Given the description of an element on the screen output the (x, y) to click on. 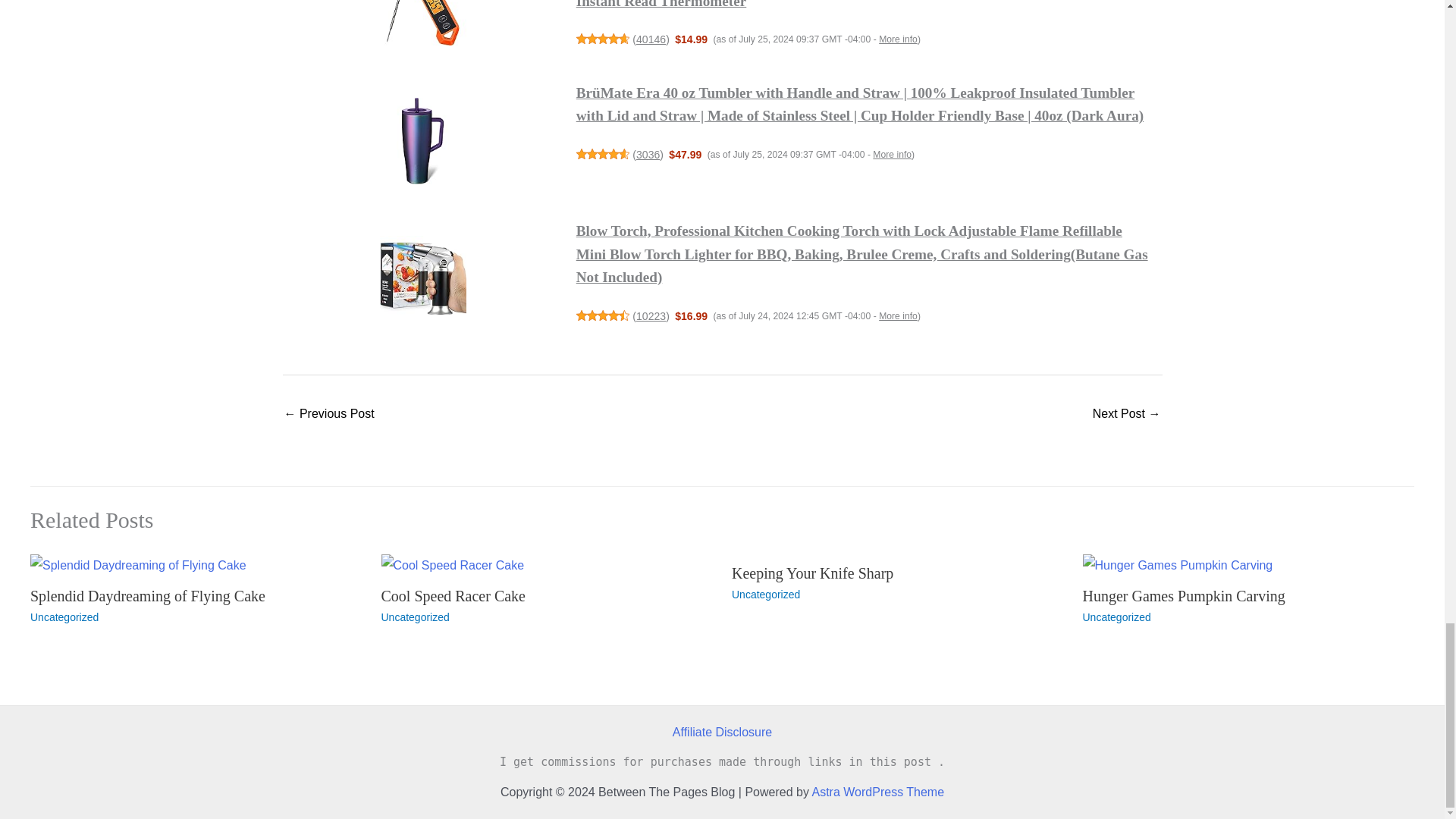
More info (898, 316)
3036 (647, 154)
Cool Speed Racer Cake (452, 596)
Uncategorized (414, 616)
Uncategorized (64, 616)
Keeping Your Knife Sharp (328, 415)
More info (891, 154)
40146 (650, 39)
Splendid Daydreaming of Flying Cake (147, 596)
10223 (650, 316)
More info (898, 39)
